Given the description of an element on the screen output the (x, y) to click on. 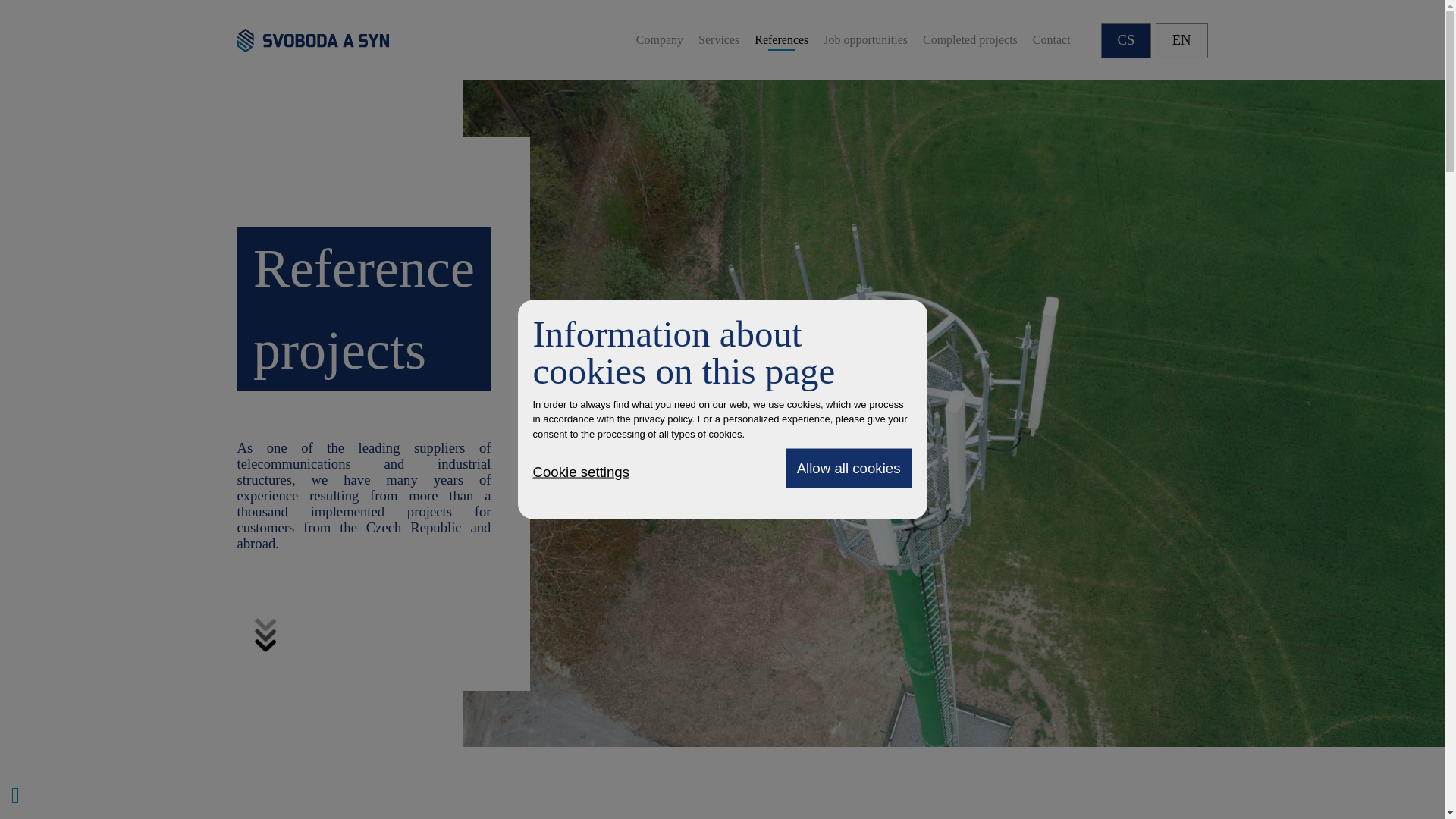
Company (659, 40)
Allow all cookies (849, 468)
Allow all cookies (849, 468)
Job opportunities (865, 40)
Services (718, 40)
References (781, 40)
Completed projects (970, 40)
Contact (1051, 40)
EN (1182, 40)
CS (1125, 40)
